Given the description of an element on the screen output the (x, y) to click on. 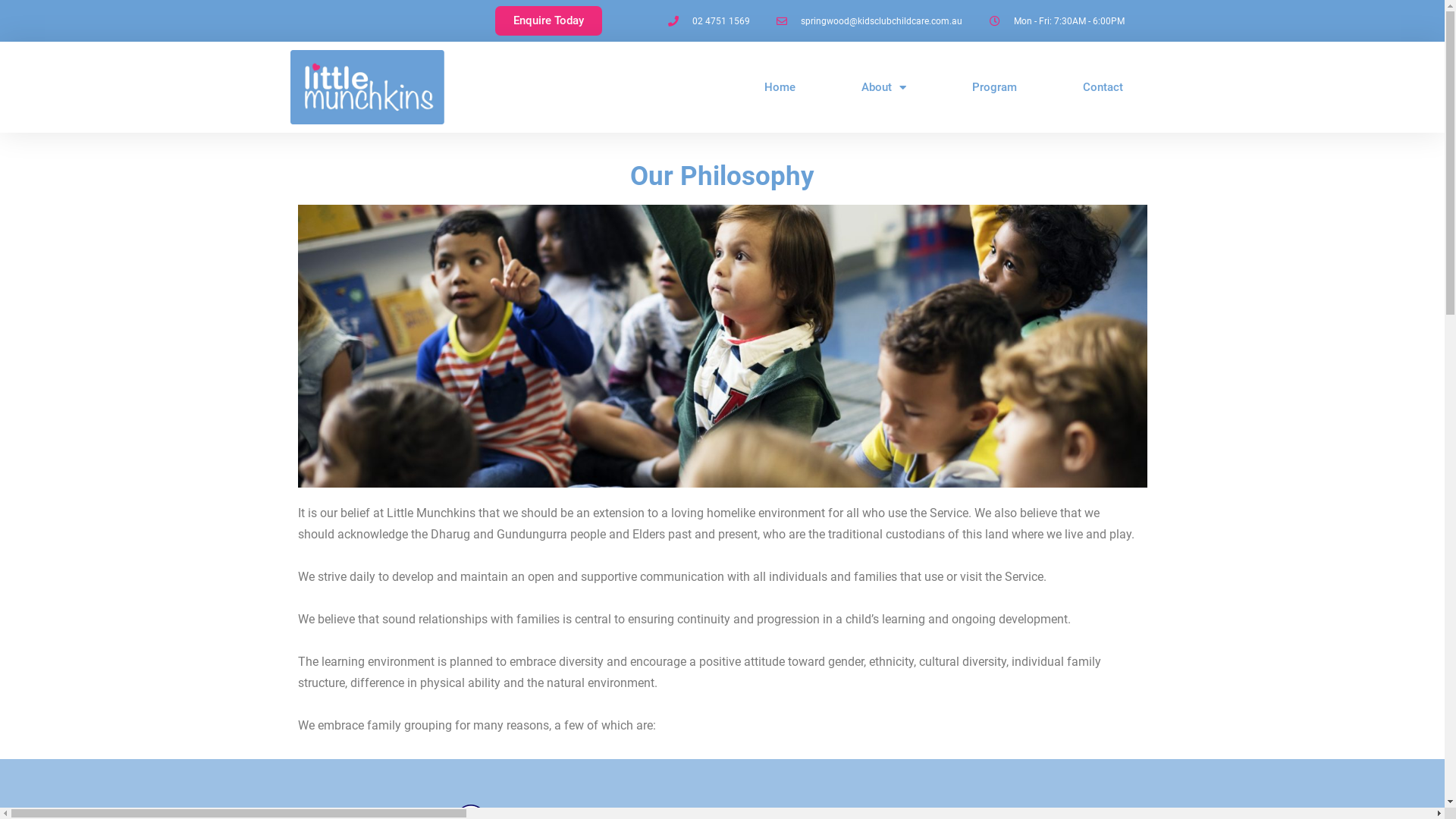
Program Element type: text (994, 86)
Happy kids at elementary school Element type: hover (721, 345)
02 4751 1569 Element type: text (707, 20)
springwood@kidsclubchildcare.com.au Element type: text (867, 20)
Enquire Today Element type: text (547, 20)
Home Element type: text (779, 86)
About Element type: text (883, 86)
Contact Element type: text (1102, 86)
